Given the description of an element on the screen output the (x, y) to click on. 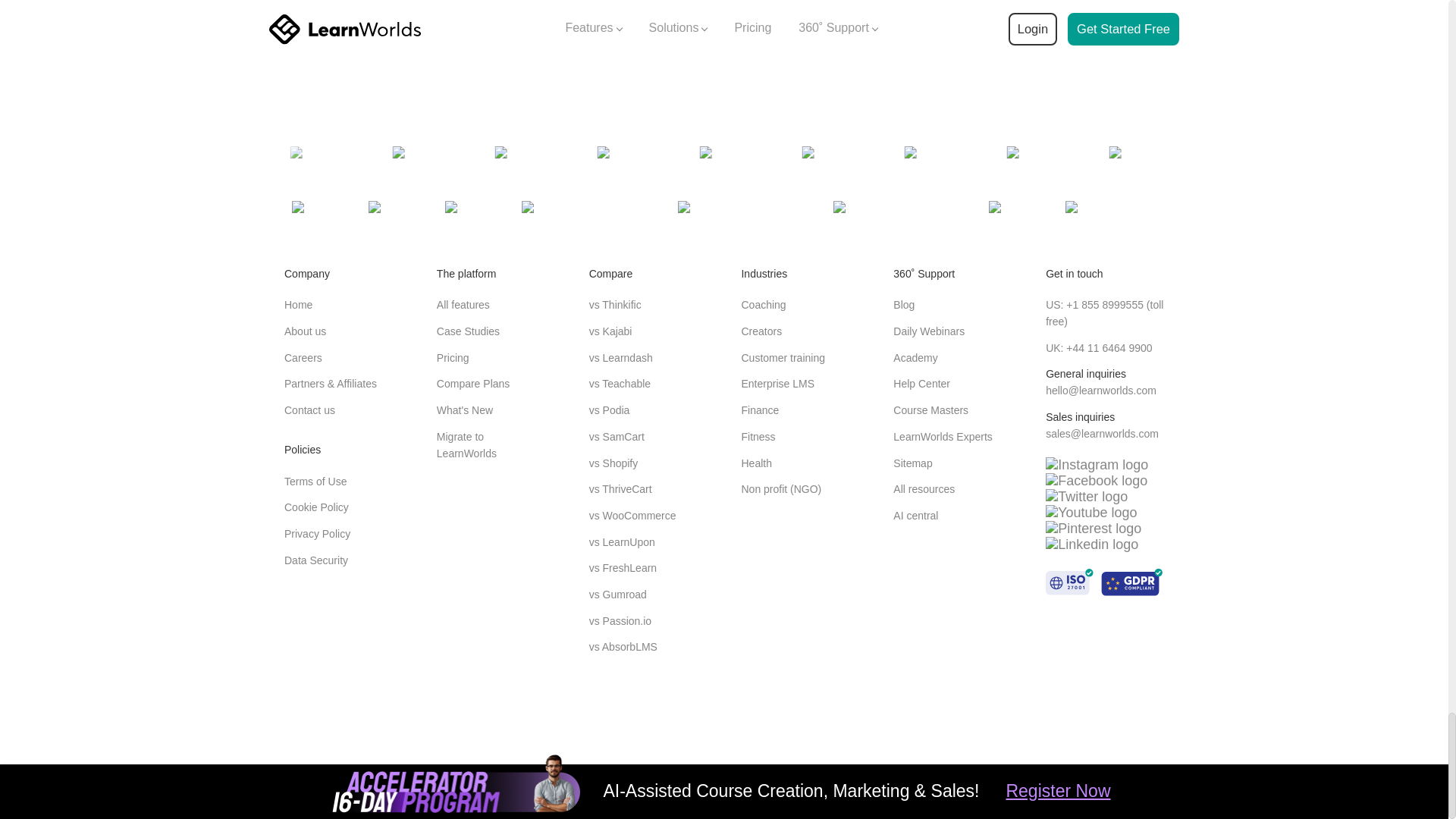
send email to LearnWorlds (1100, 390)
send email to LearnWorlds (1101, 433)
